Given the description of an element on the screen output the (x, y) to click on. 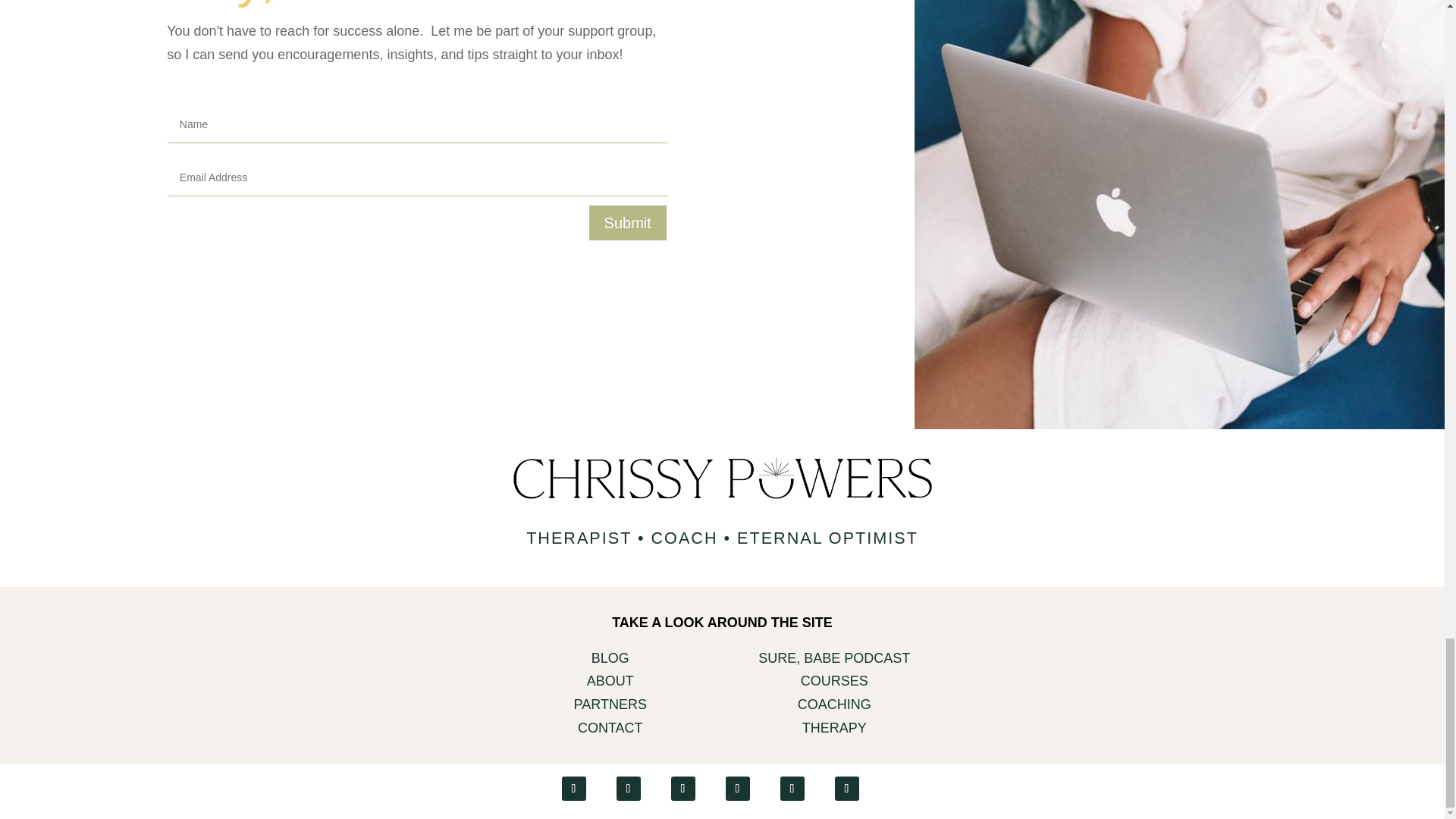
Follow on Facebook (627, 788)
Follow on Youtube (790, 788)
Follow on Pinterest (737, 788)
Follow on iTunes (846, 788)
Follow on Instagram (572, 788)
ChrissyPowersHeroLogo-01 (721, 477)
Follow on X (681, 788)
